Given the description of an element on the screen output the (x, y) to click on. 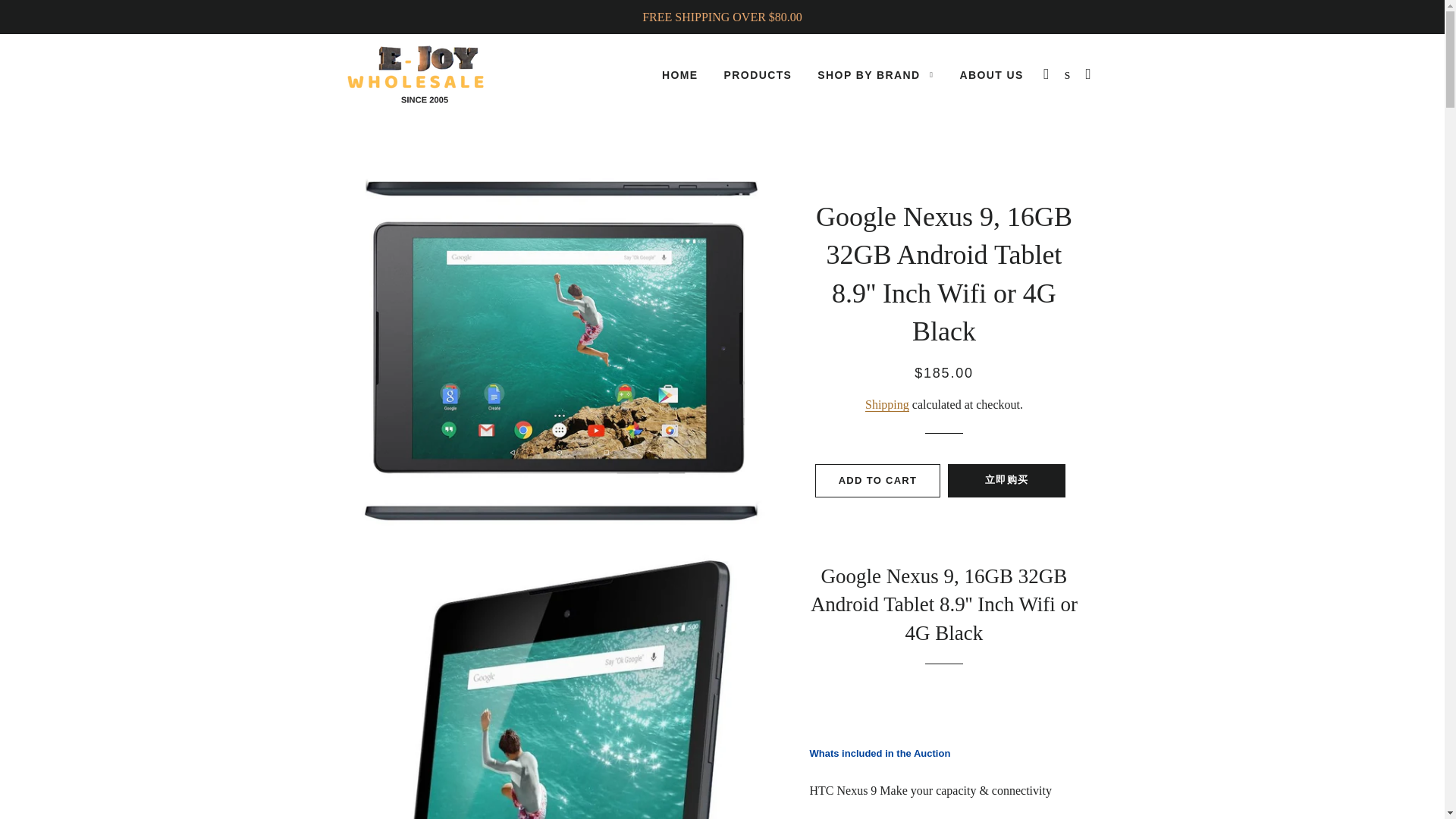
ADD TO CART (877, 480)
LOG IN (1046, 74)
Shipping (886, 404)
HOME (680, 75)
ABOUT US (990, 75)
PRODUCTS (758, 75)
SEARCH (1067, 74)
SHOP BY BRAND (875, 75)
CART (1088, 74)
